Given the description of an element on the screen output the (x, y) to click on. 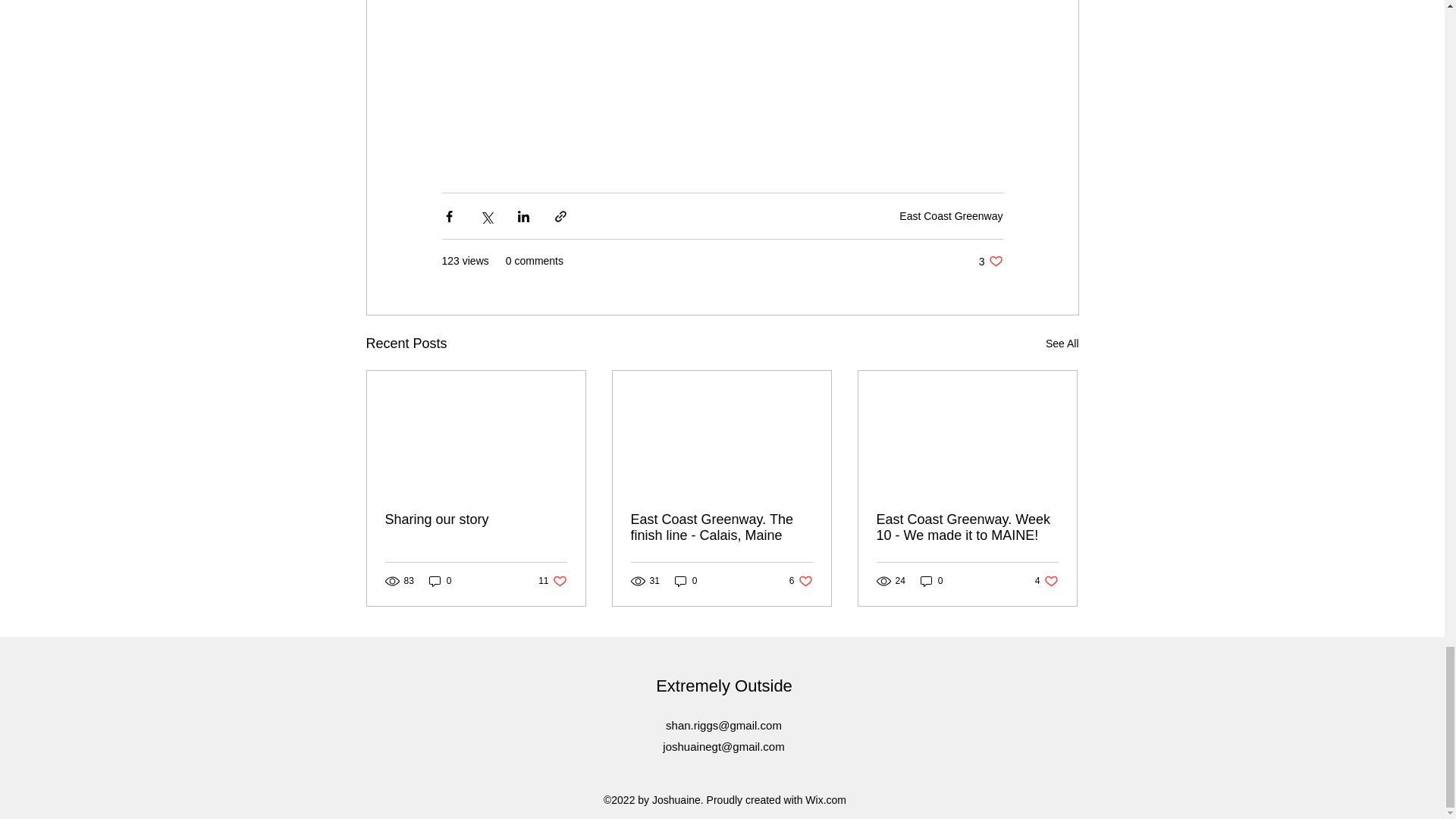
East Coast Greenway (1046, 580)
0 (951, 215)
Sharing our story (440, 580)
East Coast Greenway. Week 10 - We made it to MAINE! (476, 519)
See All (967, 527)
East Coast Greenway. The finish line - Calais, Maine (1061, 343)
